Given the description of an element on the screen output the (x, y) to click on. 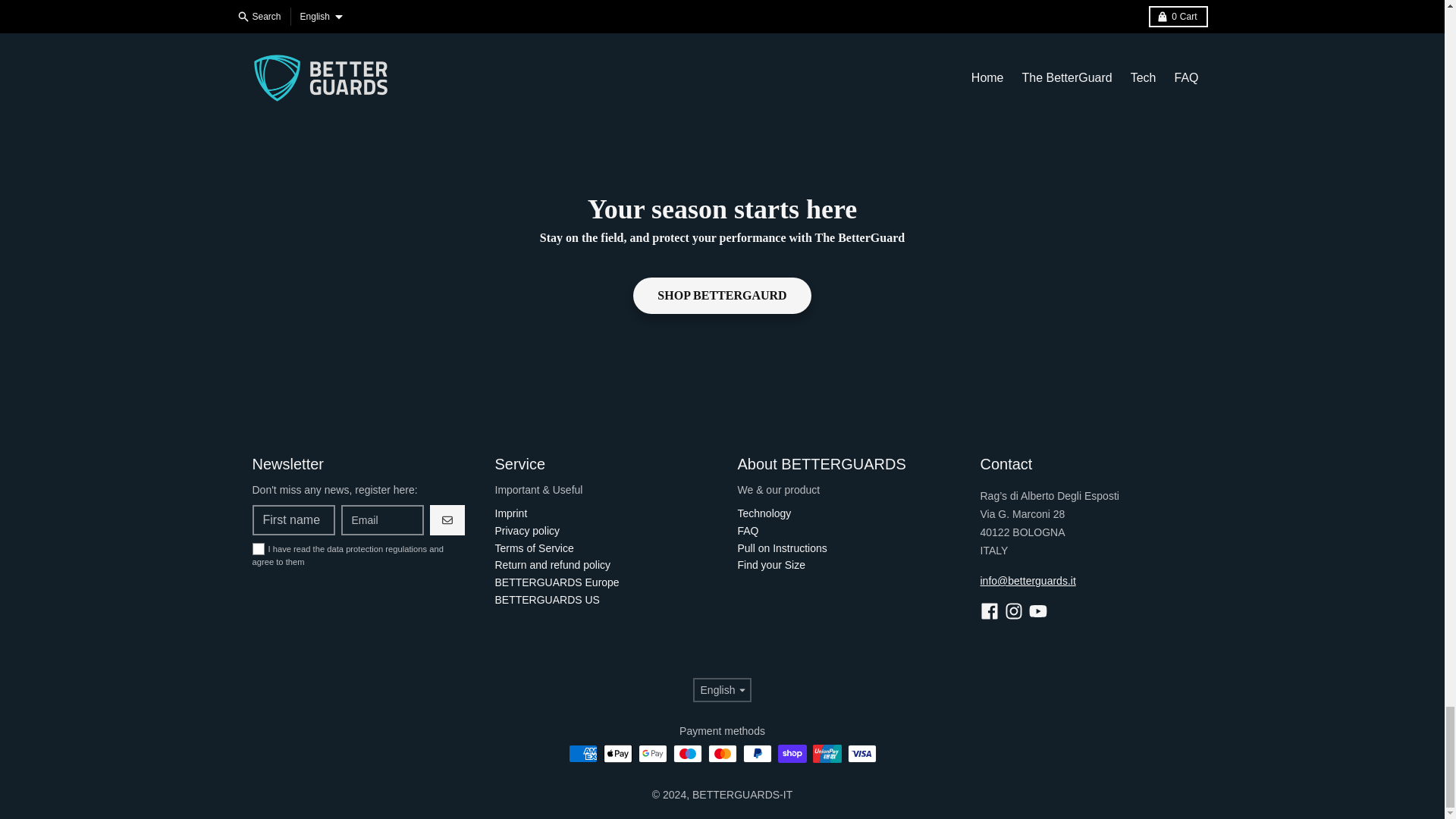
Facebook - BETTERGUARDS-IT (988, 610)
Imprint (511, 512)
Instagram - BETTERGUARDS-IT (1013, 610)
Privacy policy (527, 530)
YouTube - BETTERGUARDS-IT (1036, 610)
GO (446, 520)
SHOP BETTERGAURD (721, 295)
Terms of Service (534, 548)
